Given the description of an element on the screen output the (x, y) to click on. 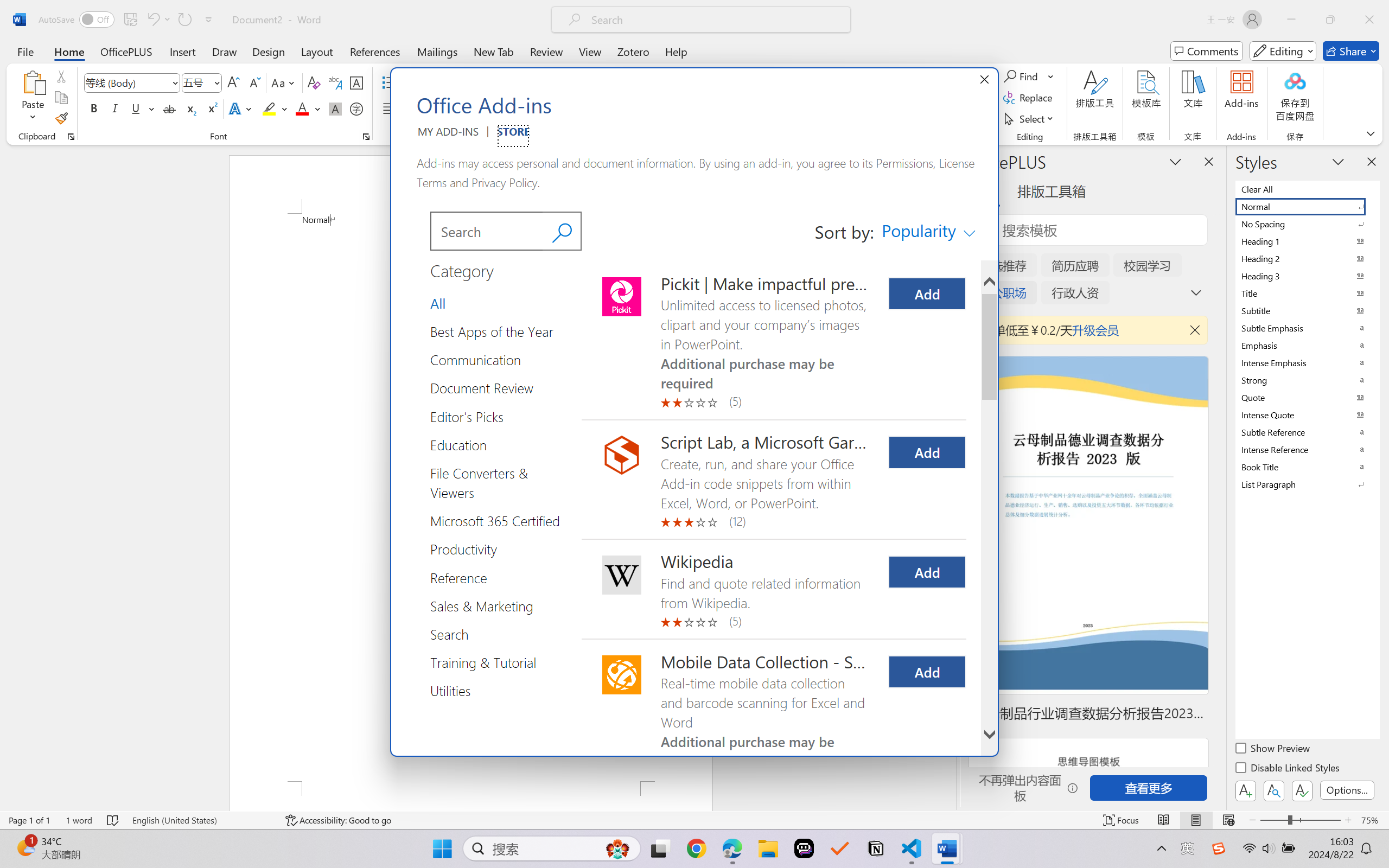
Font Size (196, 82)
Character Border (356, 82)
Zoom Out (1273, 819)
Mailings (437, 51)
Heading 1 (1306, 240)
Microsoft search (715, 19)
Page Number Page 1 of 1 (29, 819)
Quote (1306, 397)
Character Shading (334, 108)
Book Title (1306, 466)
Wikipedia icon (621, 574)
Zoom (1300, 819)
Enclose Characters... (356, 108)
Mobile Data Collection - Scan-IT to Office icon (621, 674)
Subtitle (1306, 310)
